Given the description of an element on the screen output the (x, y) to click on. 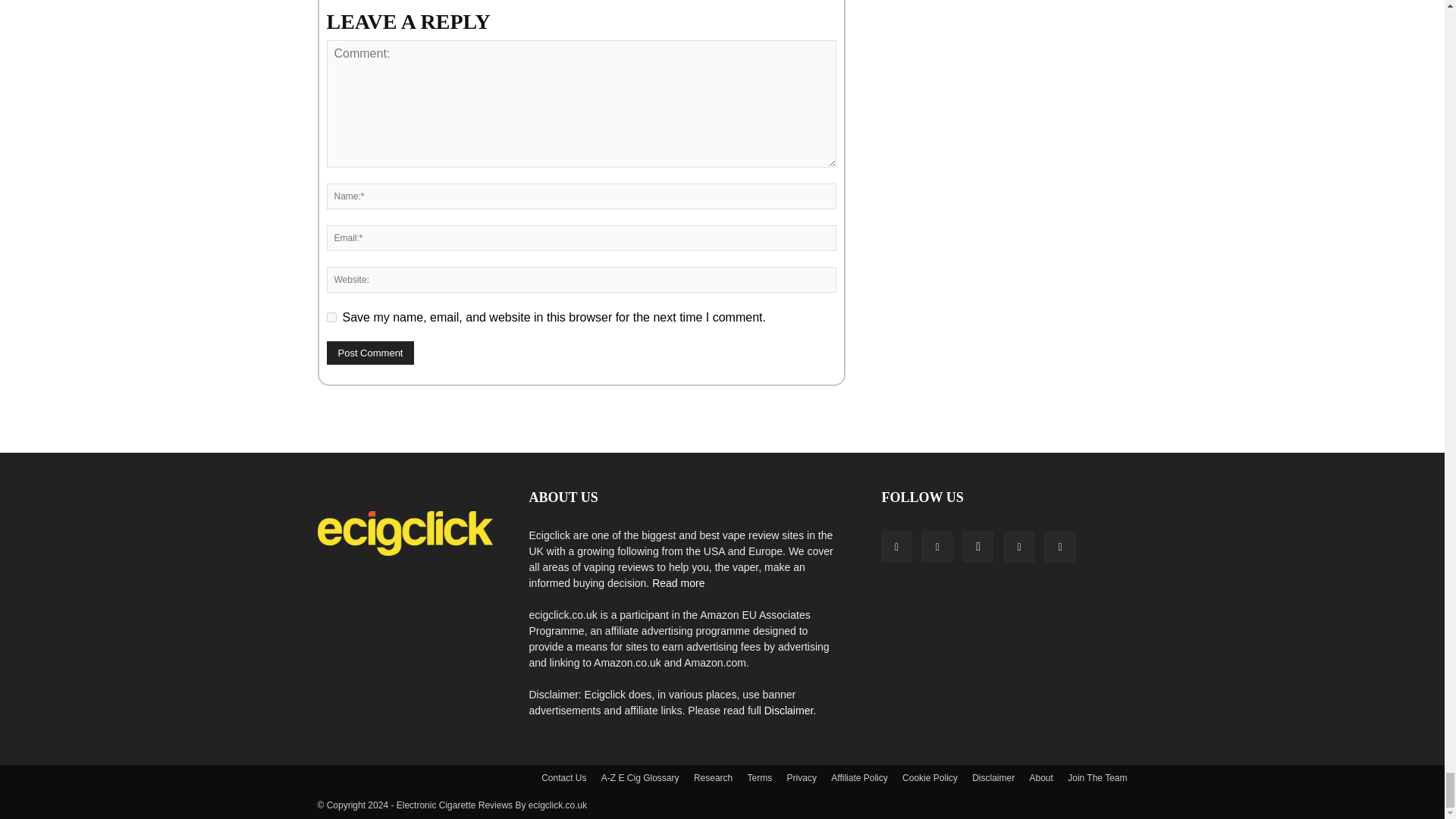
Post Comment (369, 352)
yes (331, 317)
